Given the description of an element on the screen output the (x, y) to click on. 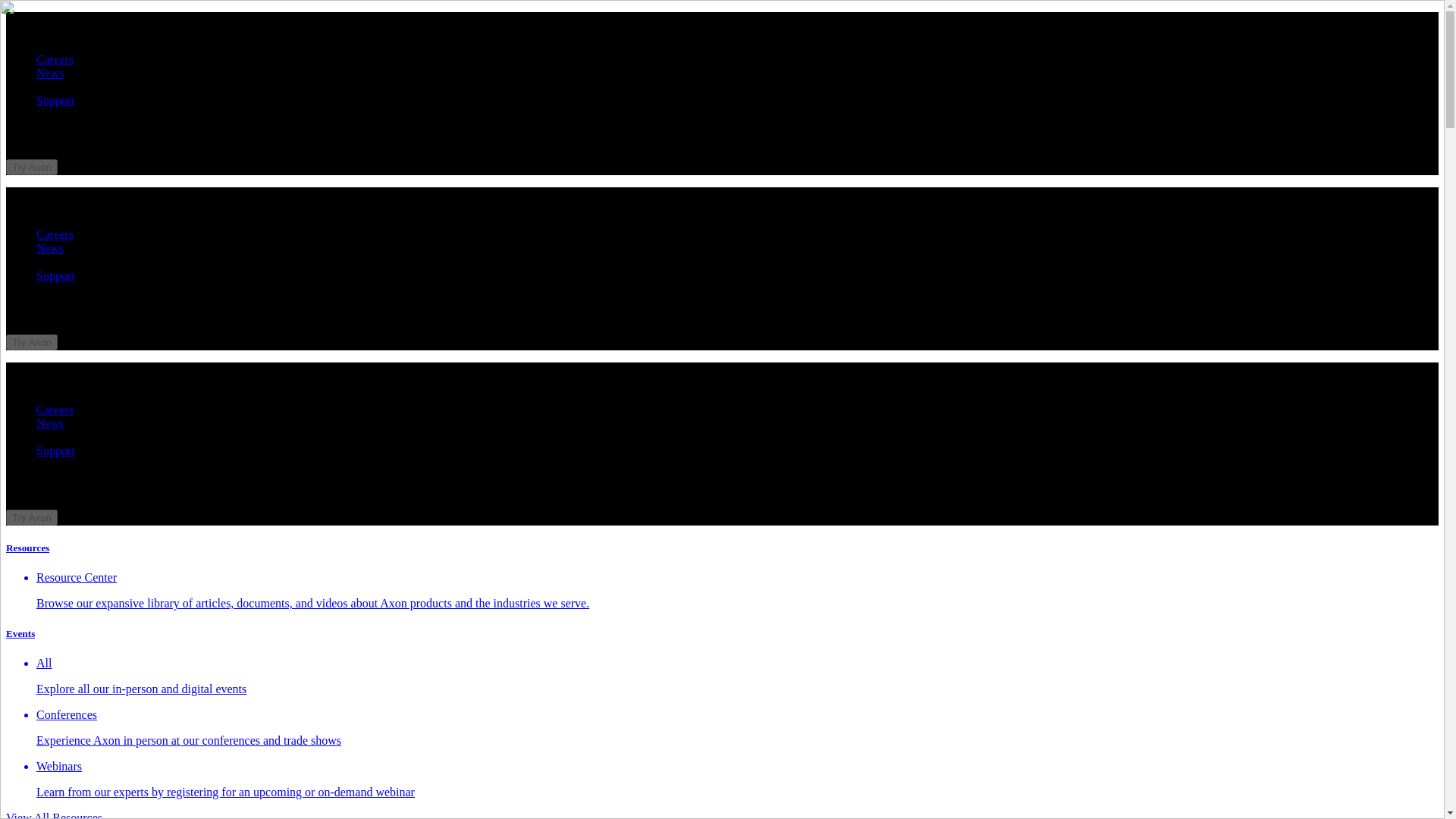
Careers (55, 409)
Support (55, 100)
News (50, 247)
Try Axon (31, 517)
Try Axon (31, 166)
News (50, 72)
Events (19, 633)
Try Axon (31, 516)
View All Resources (53, 815)
Support (55, 450)
News (50, 422)
Try Axon (31, 341)
Resources (27, 547)
Try Axon (31, 342)
Try Axon (31, 165)
